Given the description of an element on the screen output the (x, y) to click on. 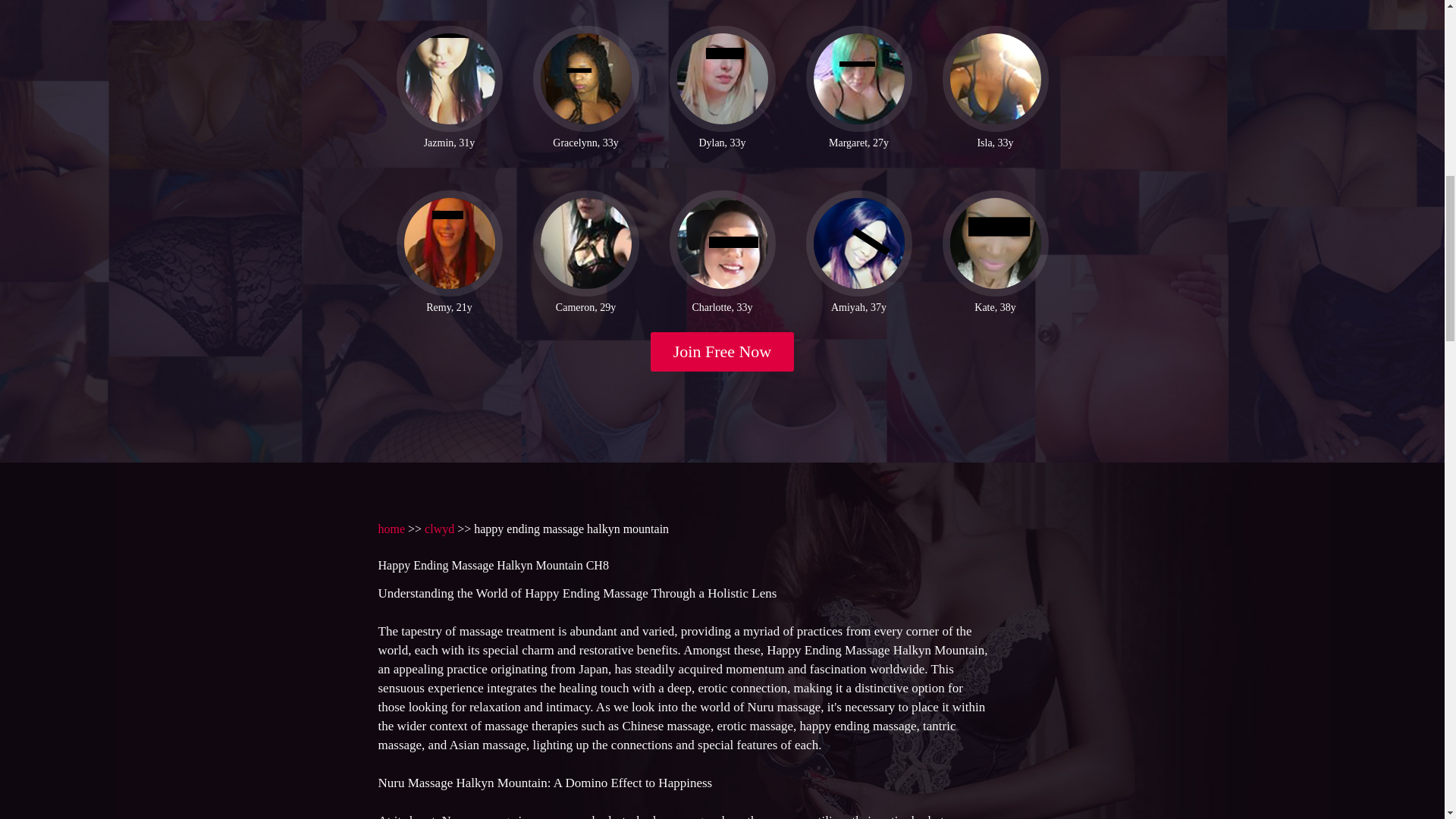
clwyd (439, 528)
Join Free Now (722, 351)
Join (722, 351)
home (390, 528)
